Given the description of an element on the screen output the (x, y) to click on. 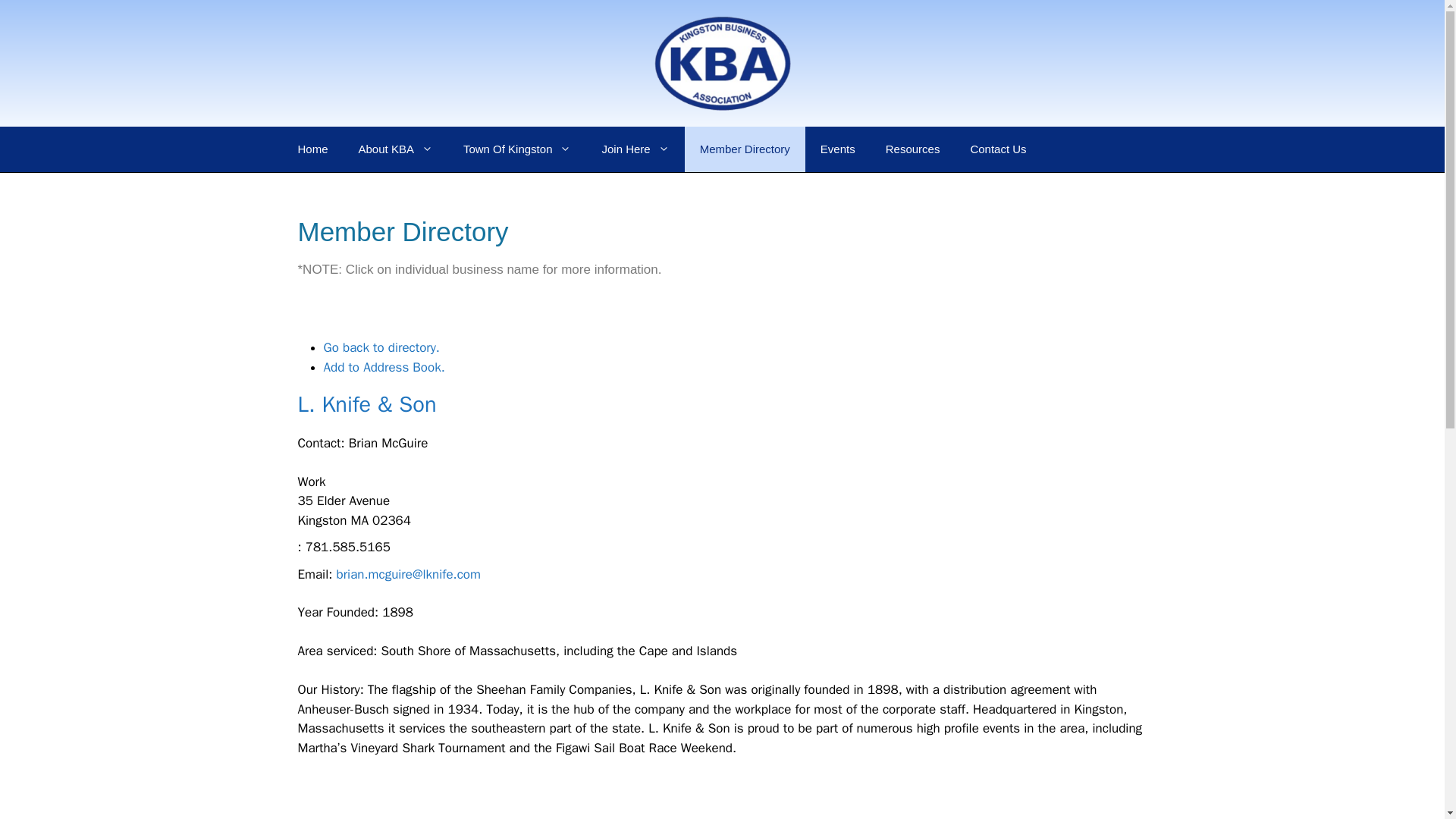
Home (312, 148)
Contact Us (998, 148)
Events (837, 148)
About KBA (395, 148)
Add to Address Book. (383, 367)
Town Of Kingston (517, 148)
Download vCard (383, 367)
Member Directory (744, 148)
Join Here (635, 148)
Go back to directory. (381, 347)
